Given the description of an element on the screen output the (x, y) to click on. 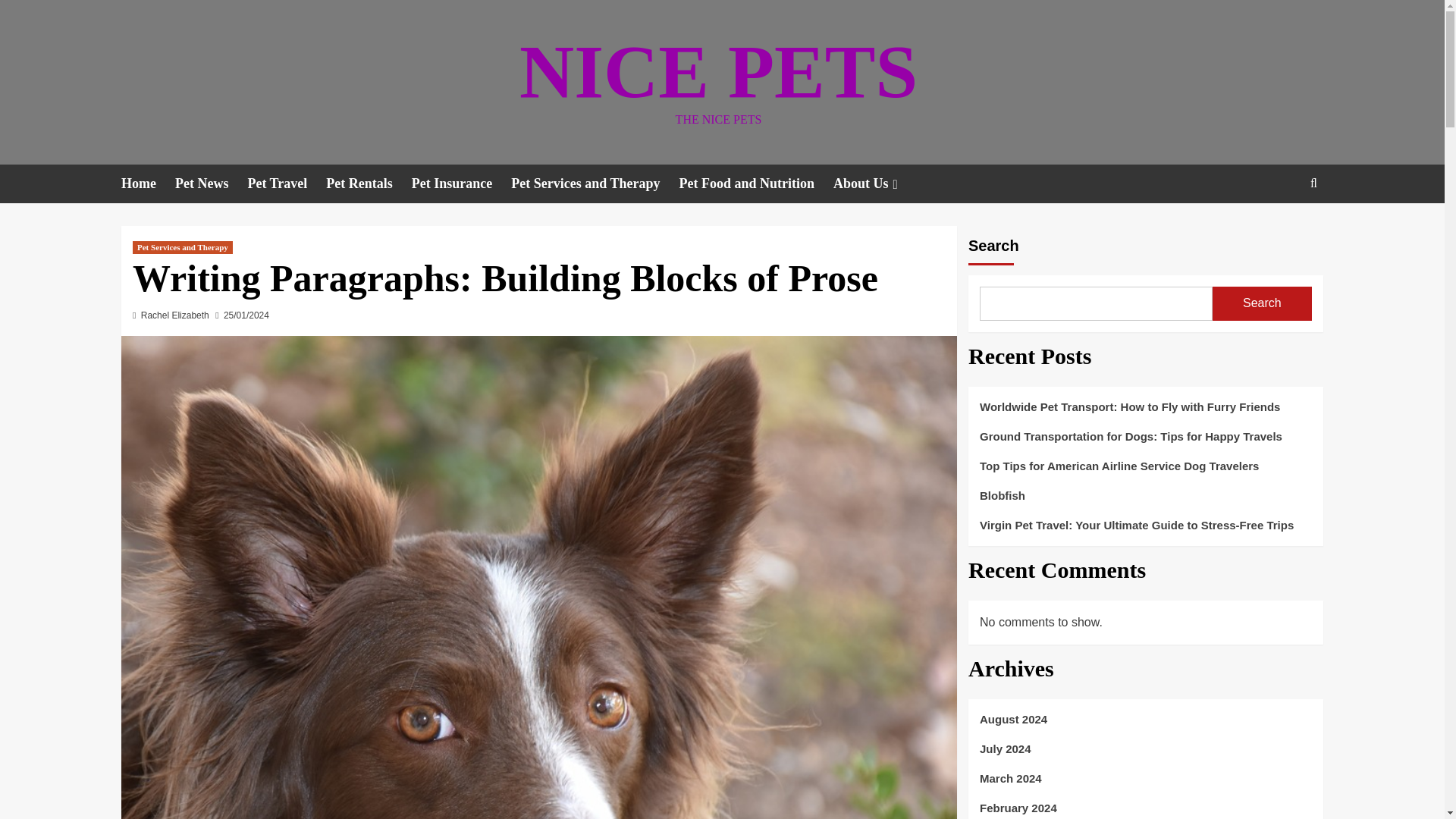
NICE PETS (718, 71)
Pet Services and Therapy (182, 246)
Pet Insurance (462, 183)
Home (147, 183)
Pet Rentals (368, 183)
Rachel Elizabeth (175, 315)
Pet Travel (286, 183)
Pet Services and Therapy (594, 183)
About Us (876, 183)
Search (1278, 229)
Pet Food and Nutrition (755, 183)
Pet News (210, 183)
